Given the description of an element on the screen output the (x, y) to click on. 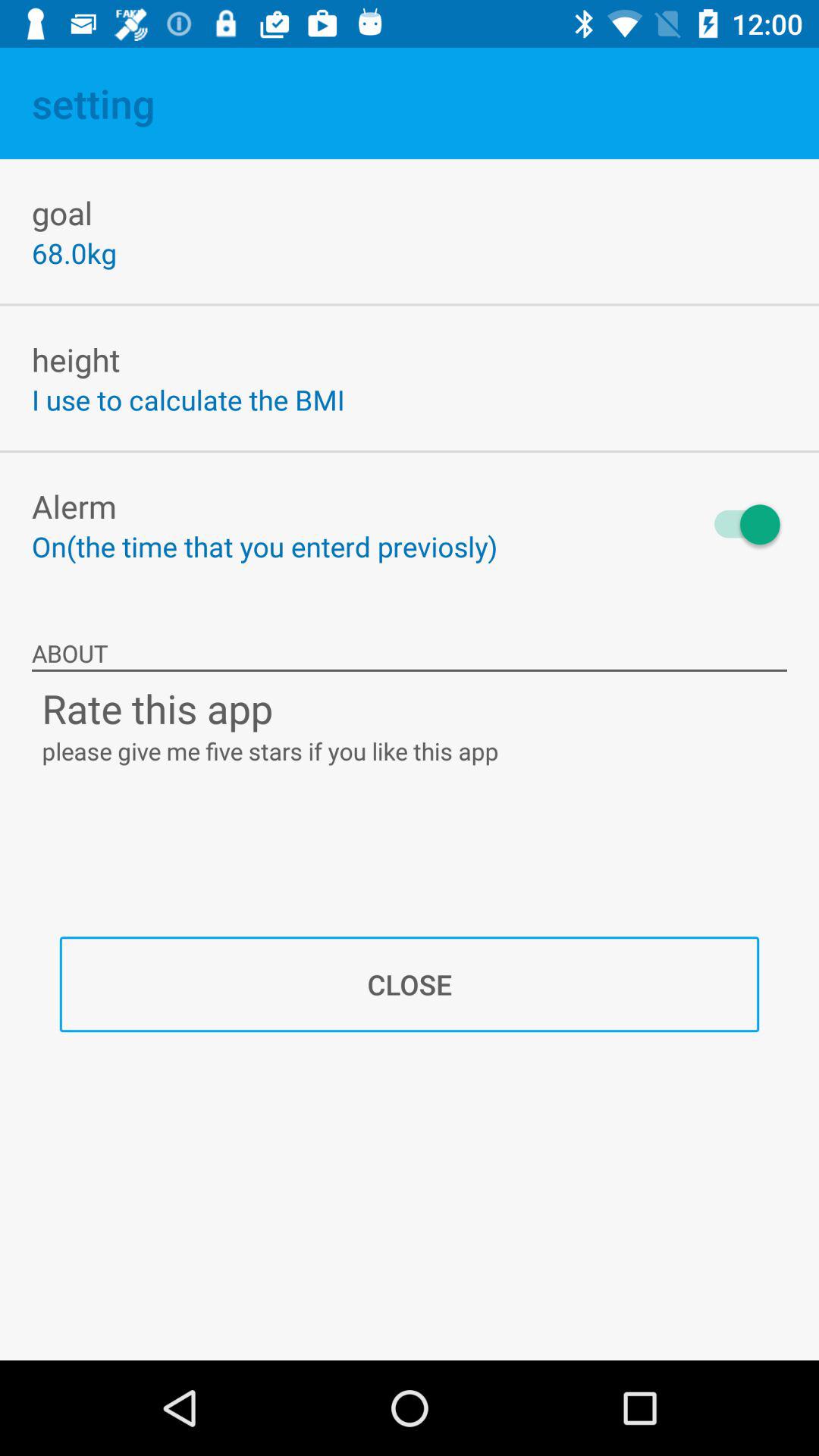
press icon next to the on the time icon (739, 524)
